Given the description of an element on the screen output the (x, y) to click on. 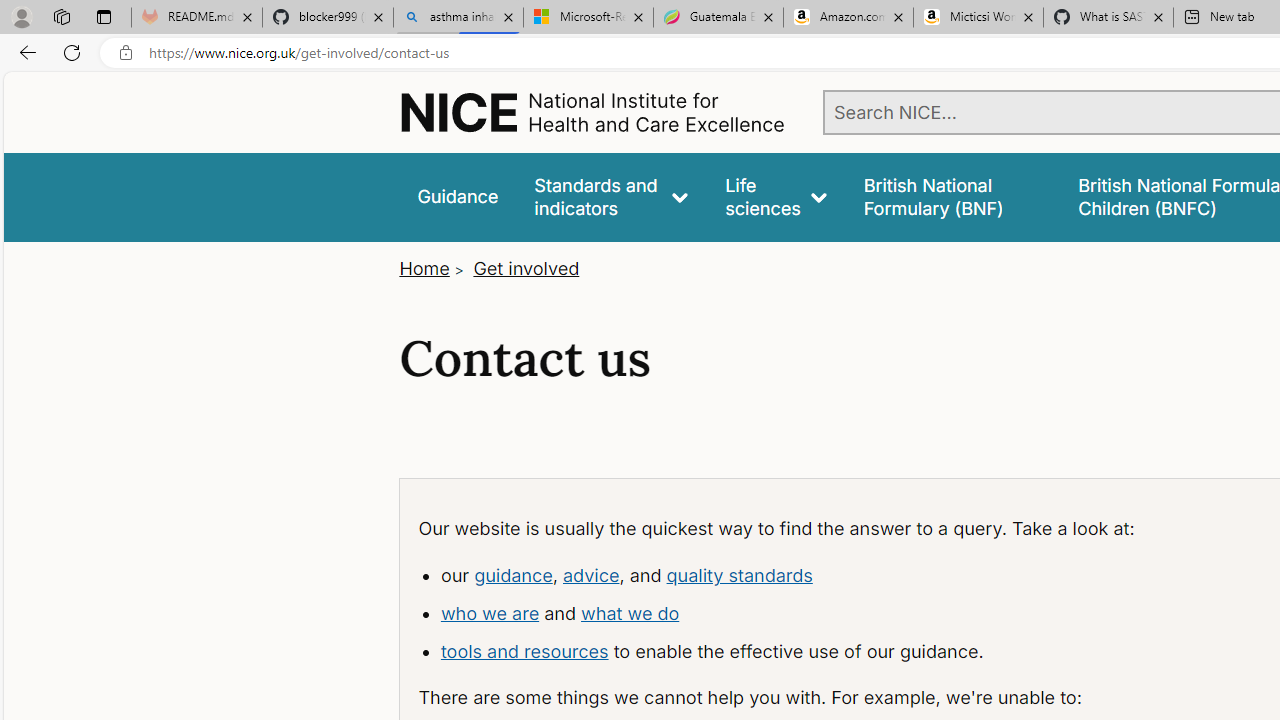
asthma inhaler - Search (458, 17)
who we are and what we do (798, 614)
guidance (512, 574)
